Given the description of an element on the screen output the (x, y) to click on. 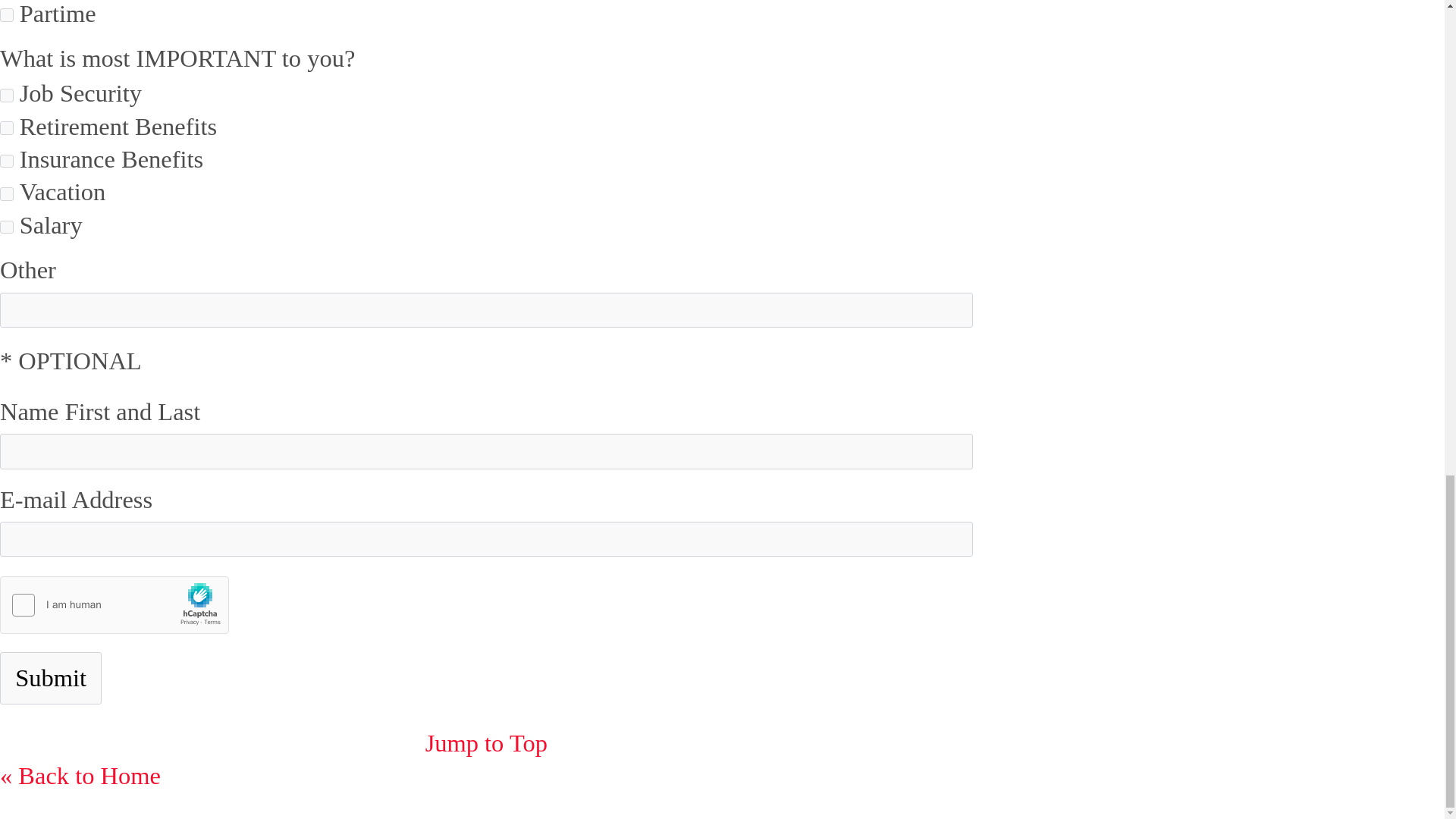
Widget containing checkbox for hCaptcha security challenge (115, 605)
Jump to Top (486, 742)
Submit (50, 678)
Submit (50, 678)
